Given the description of an element on the screen output the (x, y) to click on. 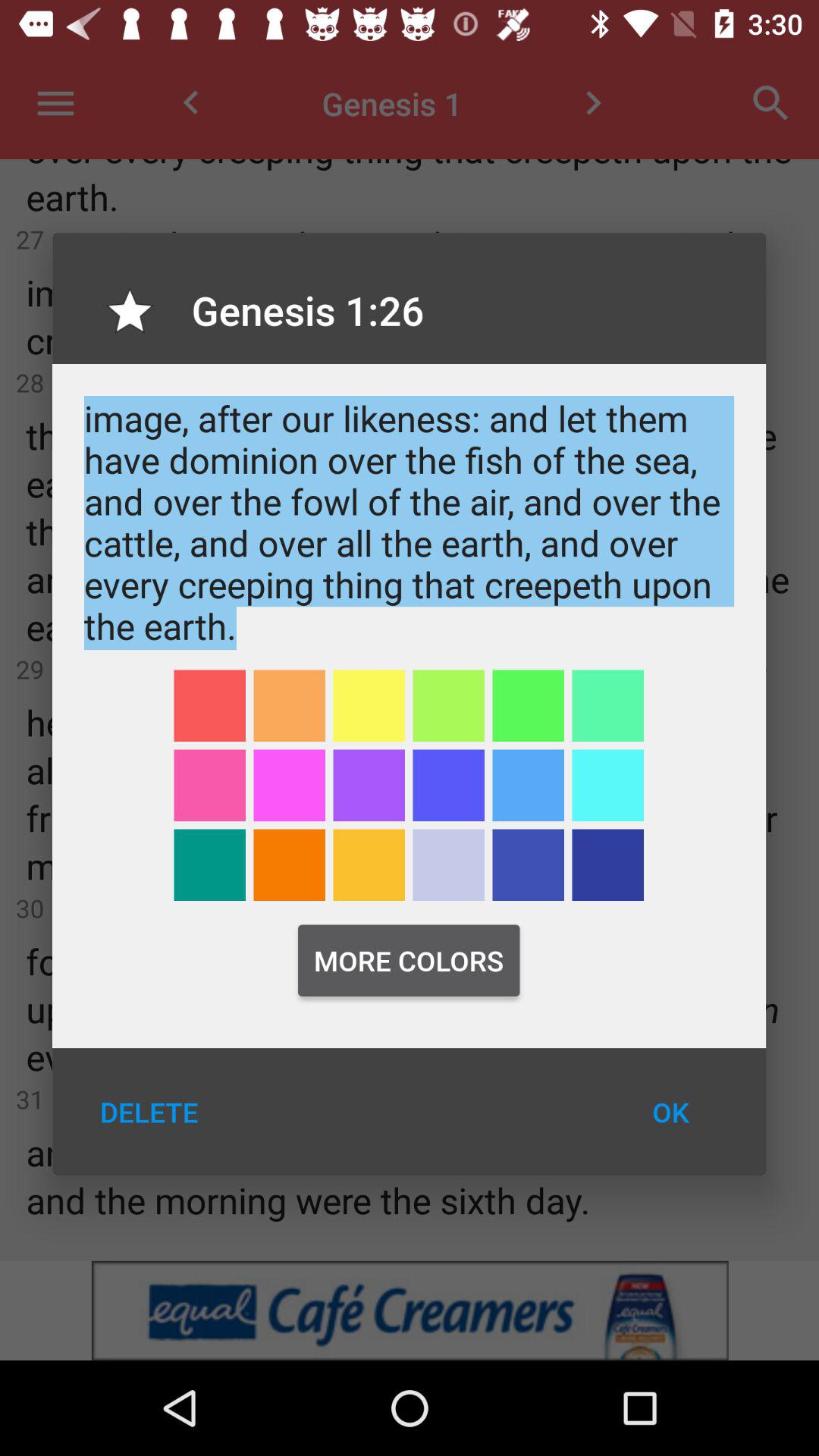
press icon to the left of the ok item (149, 1111)
